Given the description of an element on the screen output the (x, y) to click on. 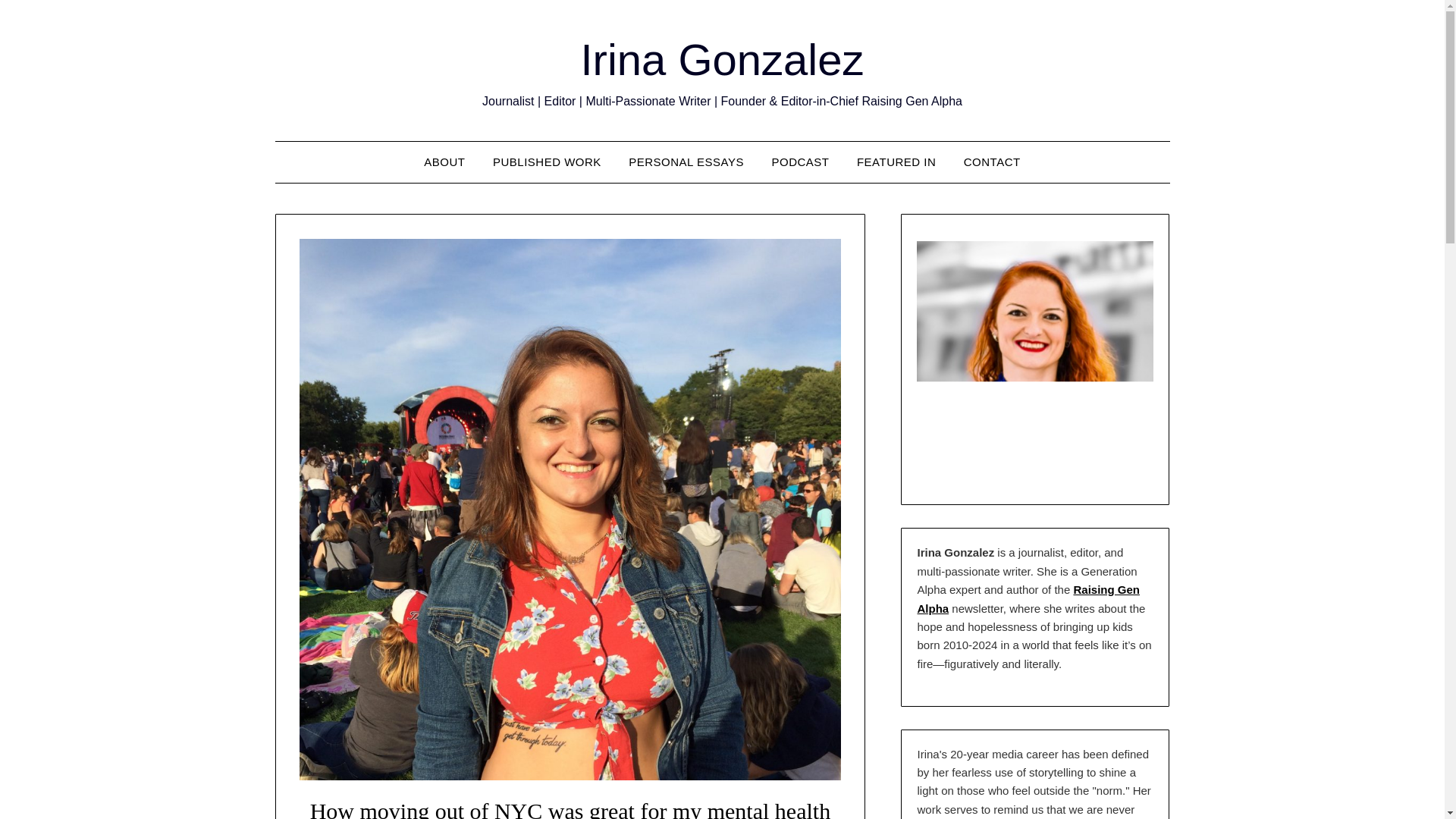
CONTACT (992, 161)
FEATURED IN (895, 161)
ABOUT (444, 161)
PERSONAL ESSAYS (685, 161)
Raising Gen Alpha (1028, 598)
PUBLISHED WORK (546, 161)
PODCAST (799, 161)
Irina Gonzalez (722, 59)
